Given the description of an element on the screen output the (x, y) to click on. 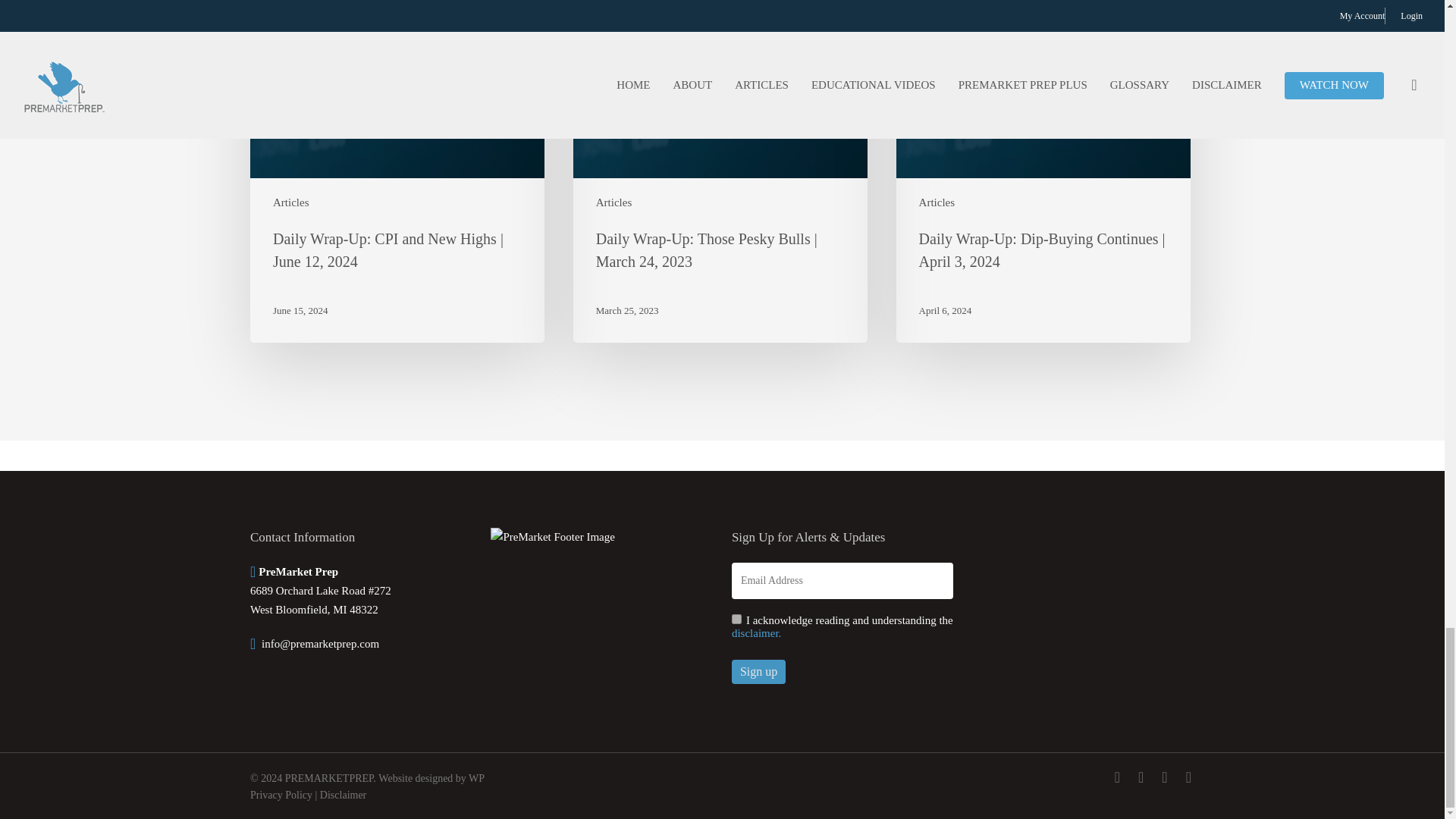
Articles (613, 202)
1 (736, 619)
Sign up (759, 671)
Sign up (759, 671)
disclaimer. (756, 633)
Disclaimer (343, 794)
Articles (936, 202)
Privacy Policy (281, 794)
Articles (290, 202)
Website designed by WP (431, 778)
